Given the description of an element on the screen output the (x, y) to click on. 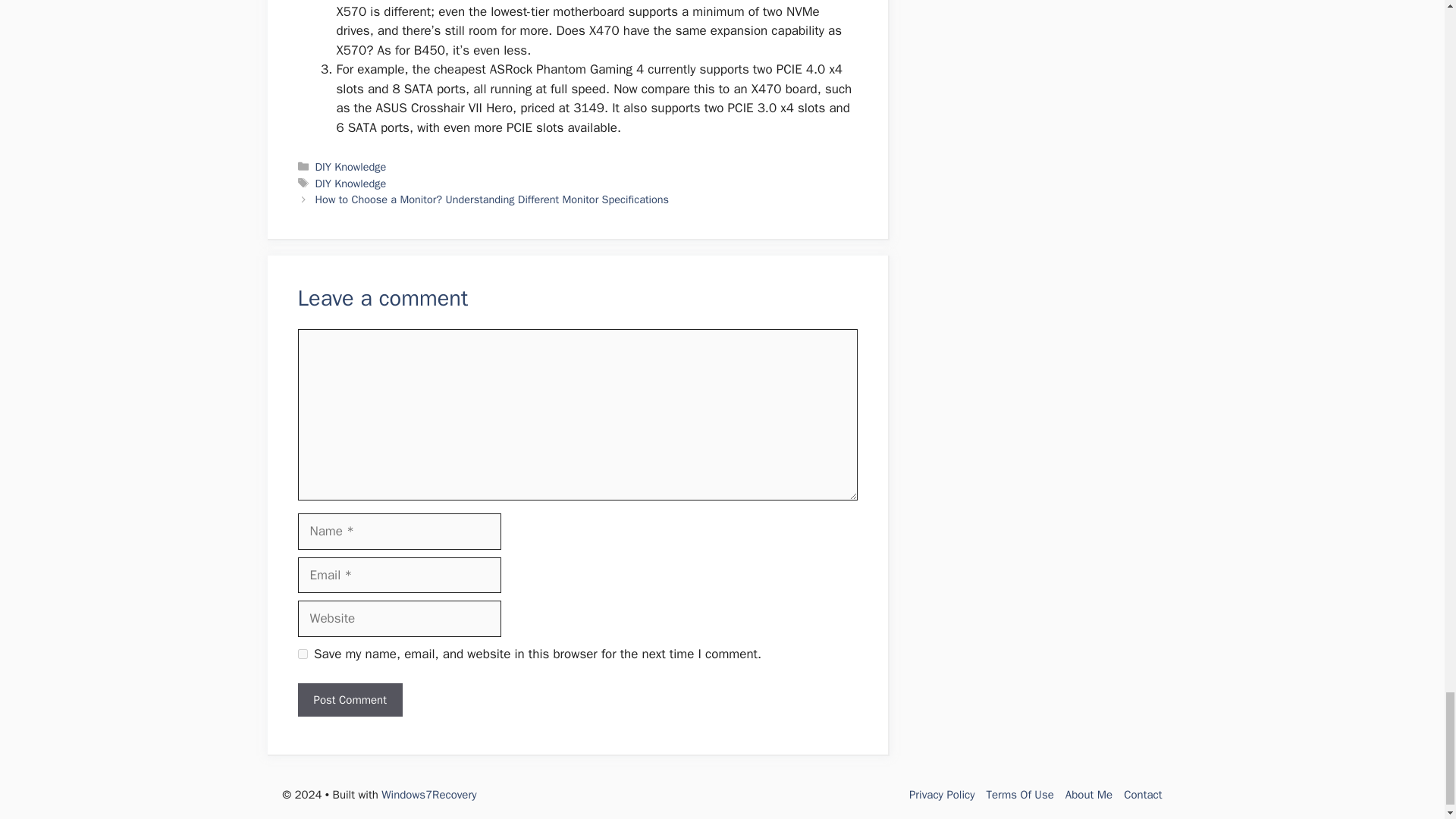
DIY Knowledge (351, 166)
yes (302, 654)
Privacy Policy (941, 794)
Windows7Recovery (428, 794)
Post Comment (349, 700)
Post Comment (349, 700)
DIY Knowledge (351, 183)
Terms Of Use (1020, 794)
About Me (1088, 794)
